Given the description of an element on the screen output the (x, y) to click on. 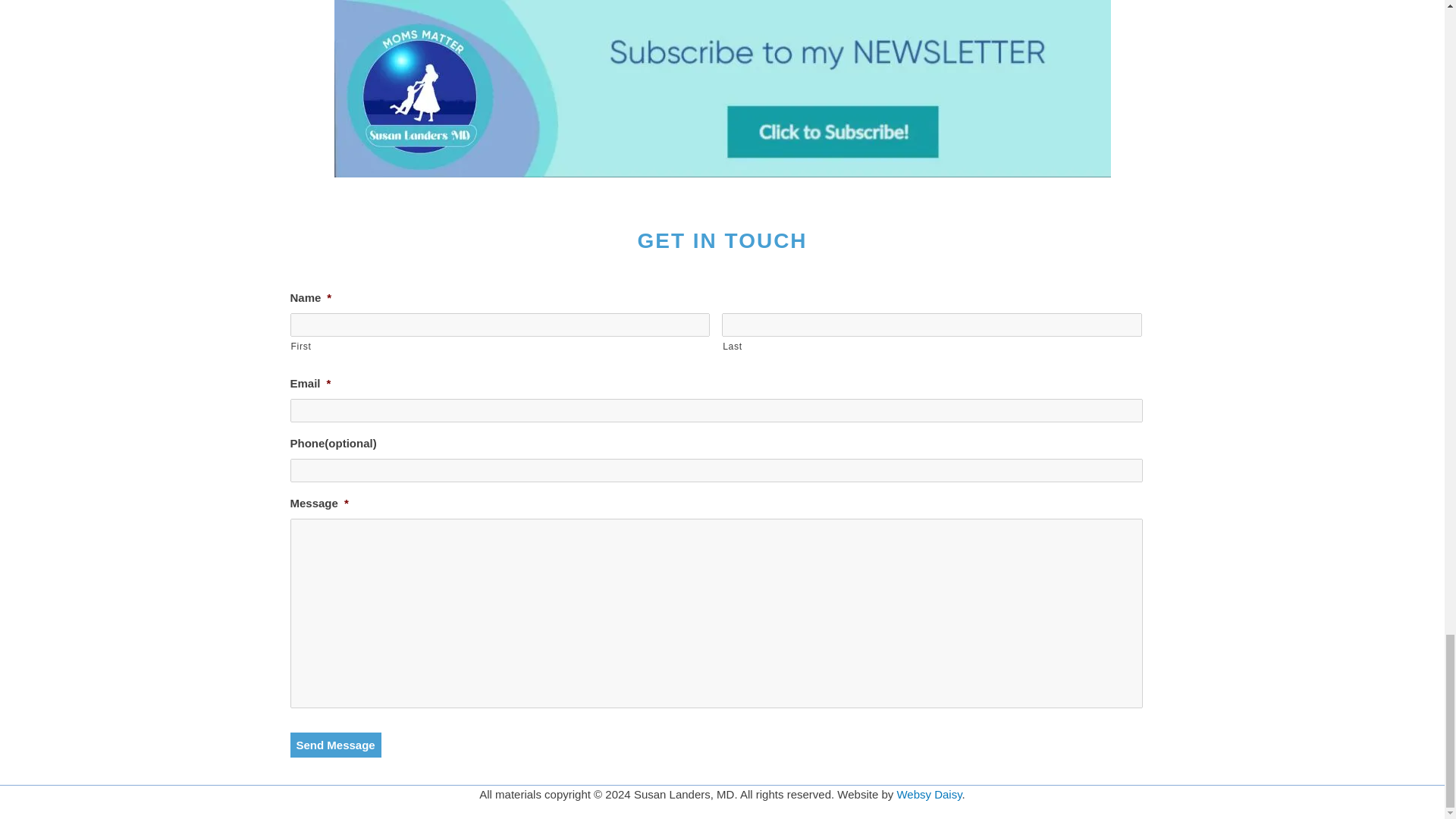
Send Message (334, 744)
